Given the description of an element on the screen output the (x, y) to click on. 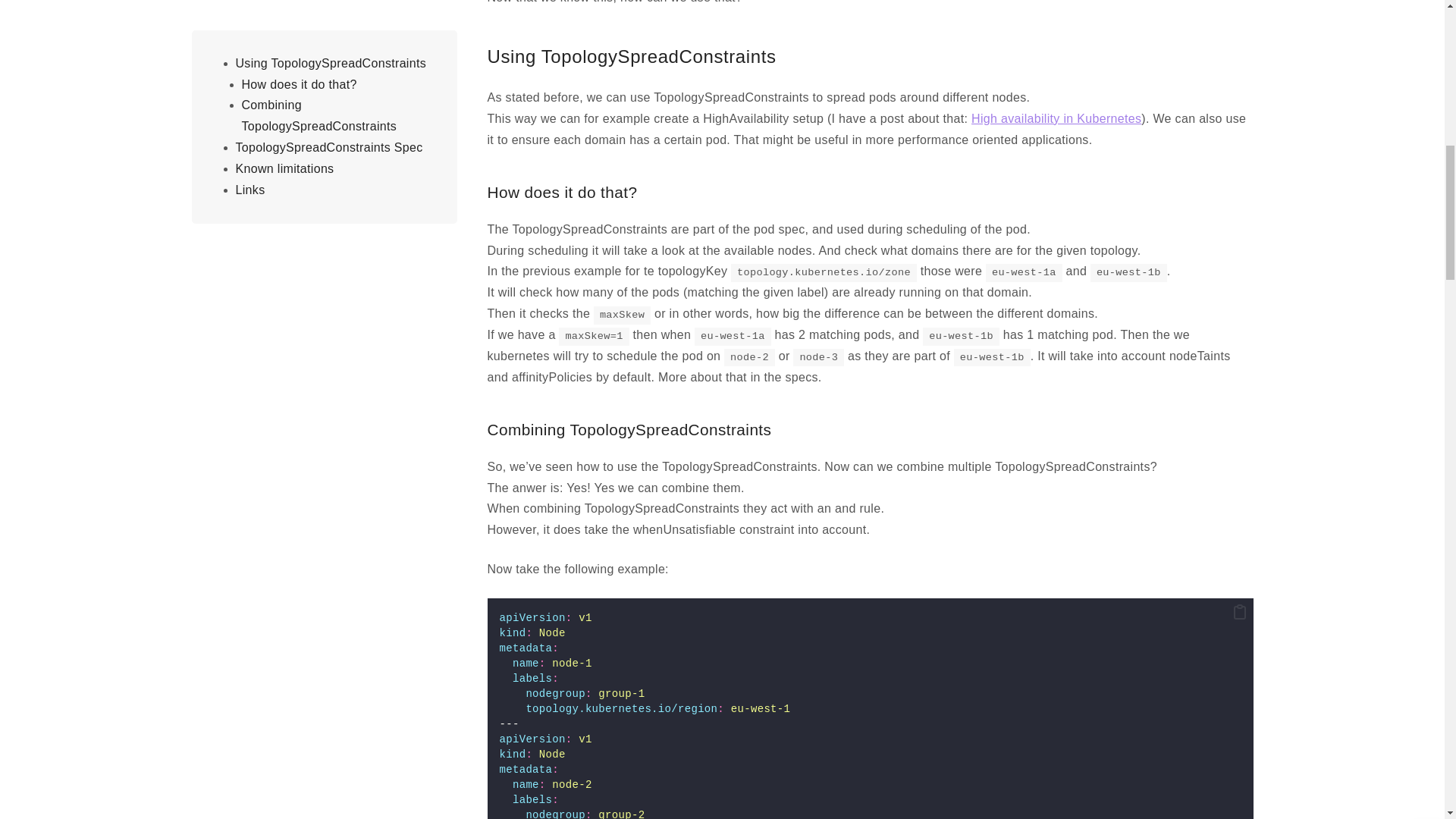
High availability in Kubernetes (1056, 118)
